Given the description of an element on the screen output the (x, y) to click on. 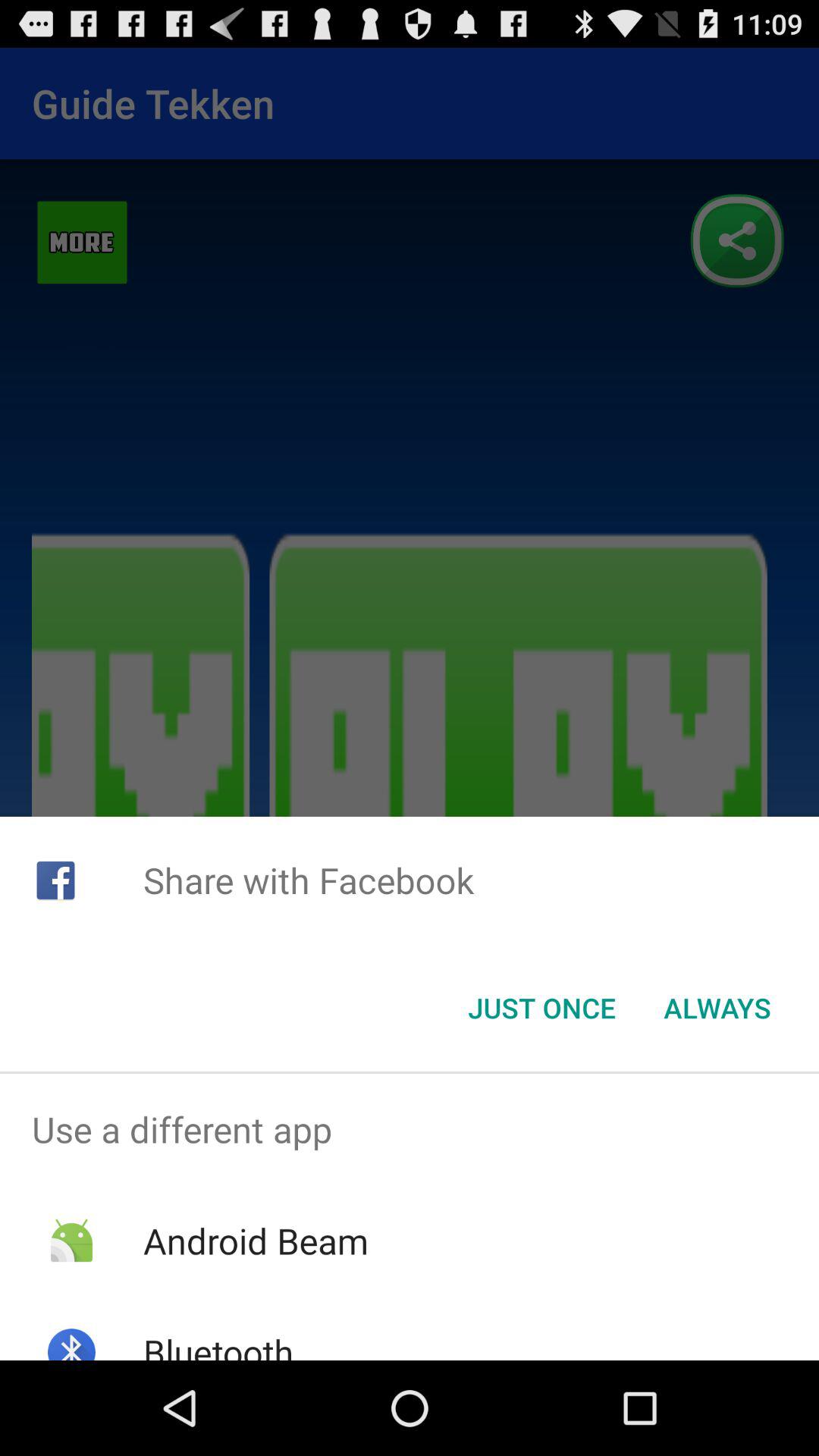
scroll until just once button (541, 1007)
